Given the description of an element on the screen output the (x, y) to click on. 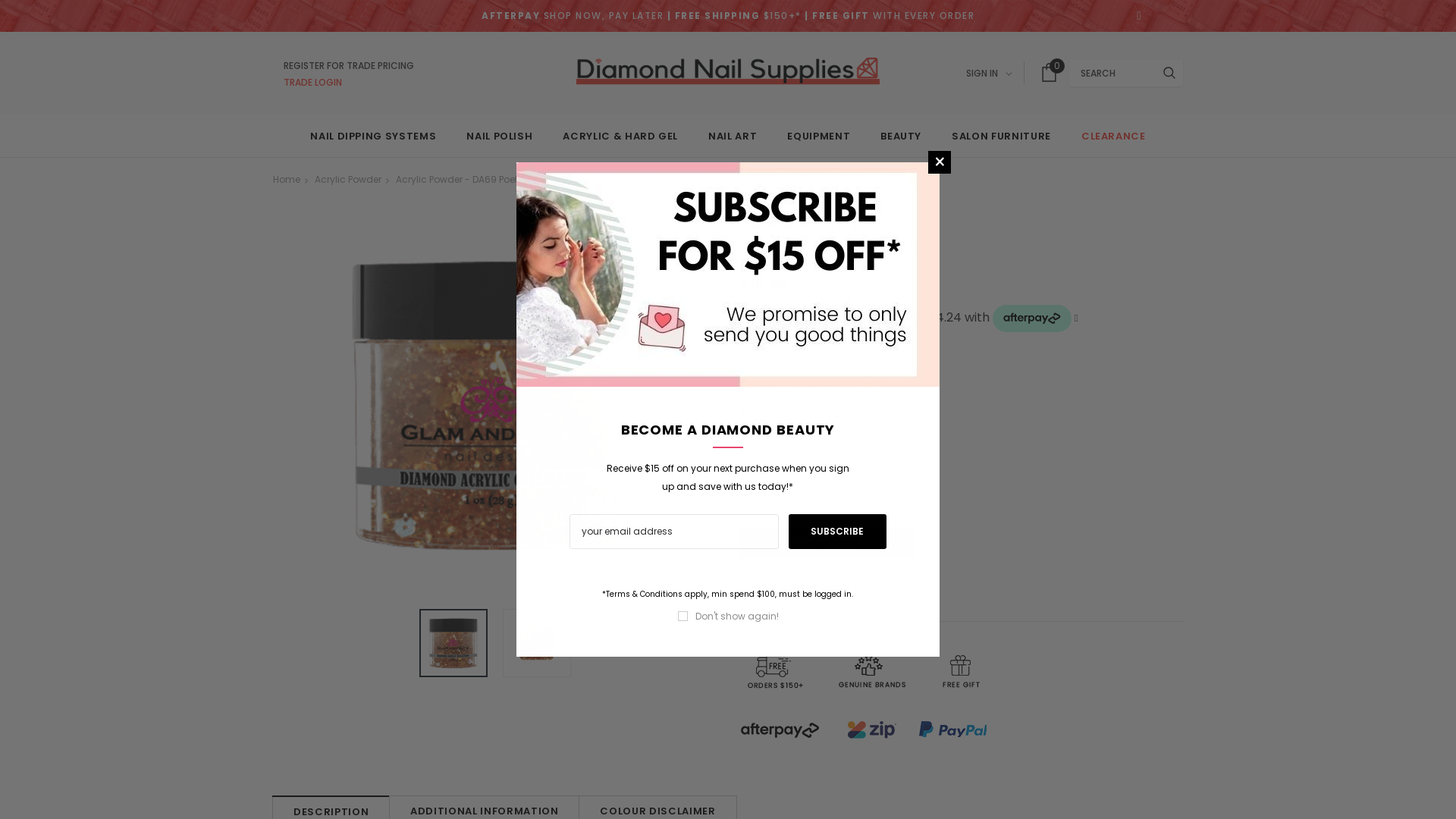
GLAM AND GLITS Element type: text (799, 223)
- Element type: text (754, 497)
BEAUTY Element type: text (900, 137)
ADD TO WISH LIST Element type: text (826, 588)
CLEARANCE Element type: text (1113, 137)
CLICK HERE FOR TRADE PRICING Element type: text (808, 384)
NAIL POLISH Element type: text (499, 137)
REGISTER FOR TRADE PRICING Element type: text (348, 64)
NAIL ART Element type: text (732, 137)
Acrylic Powder - DA69 Poetic Element type: hover (452, 642)
Acrylic Powder Element type: text (347, 178)
Acrylic Powder - DA69 Poetic Element type: text (460, 178)
Dip Powder - DA69 Poetic Element type: hover (536, 642)
ACRYLIC & HARD GEL Element type: text (620, 137)
Home Element type: text (286, 178)
+ Element type: text (837, 497)
Add to Cart Element type: text (826, 542)
SALON FURNITURE Element type: text (1001, 137)
Subscribe Element type: text (837, 531)
SIGN IN Element type: text (989, 73)
NAIL DIPPING SYSTEMS Element type: text (372, 137)
Diamond Nail Supplies Element type: hover (727, 71)
TRADE LOGIN Element type: text (348, 80)
Login Element type: text (1043, 241)
0 Element type: text (1048, 73)
EQUIPMENT Element type: text (818, 137)
